Given the description of an element on the screen output the (x, y) to click on. 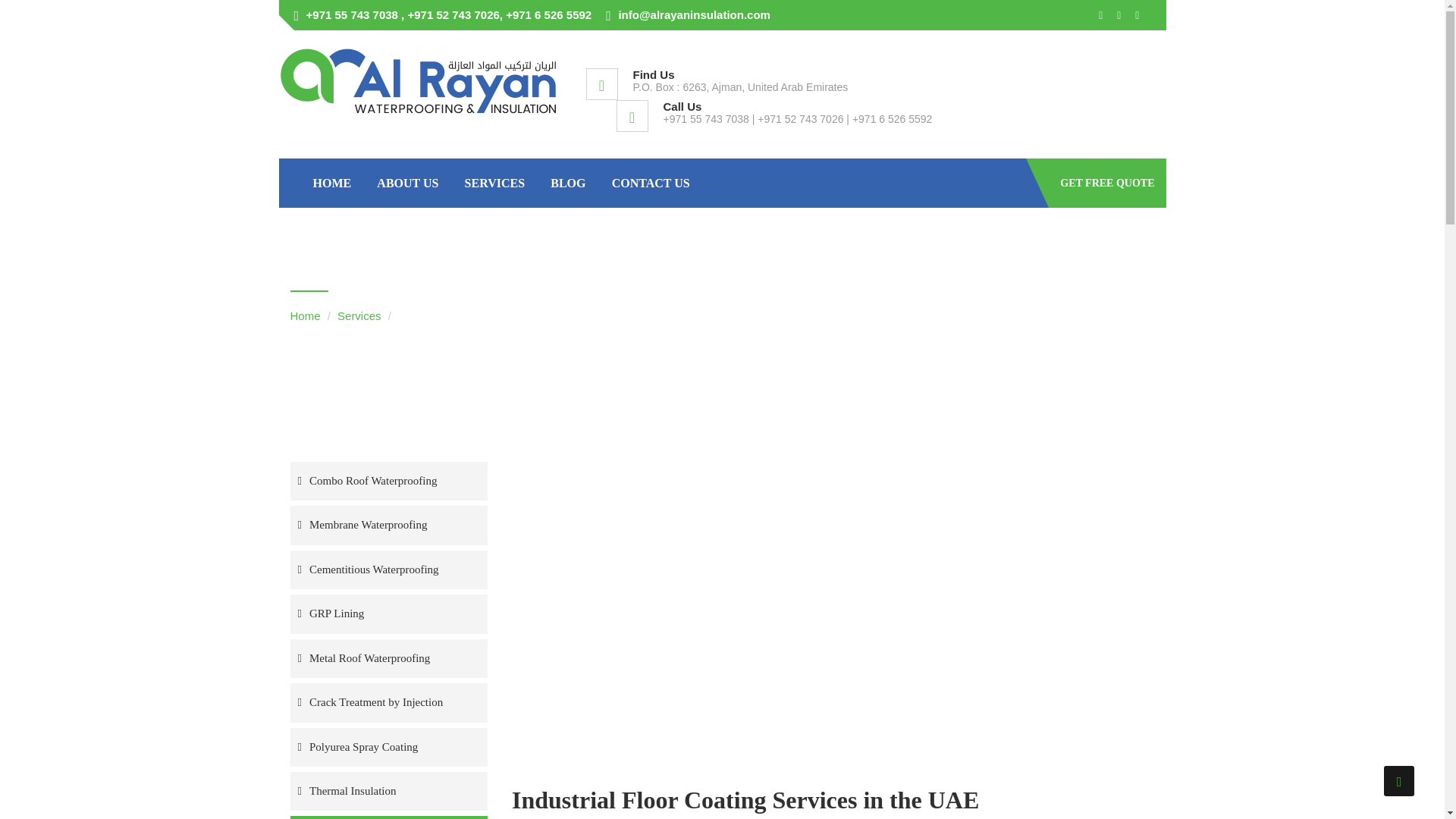
Metal Roof Waterproofing (388, 658)
CONTACT US (650, 183)
Polyurea Spray Coating (388, 747)
GRP Lining (388, 613)
Thermal Insulation (388, 791)
SERVICES (494, 183)
Back to Top (1398, 780)
Crack Treatment by Injection (388, 702)
Industrial Floor Coating (388, 817)
Cementitious Waterproofing (388, 569)
ABOUT US (407, 183)
GET FREE QUOTE (1107, 183)
HOME (331, 183)
Membrane Waterproofing (388, 525)
Services (359, 315)
